Given the description of an element on the screen output the (x, y) to click on. 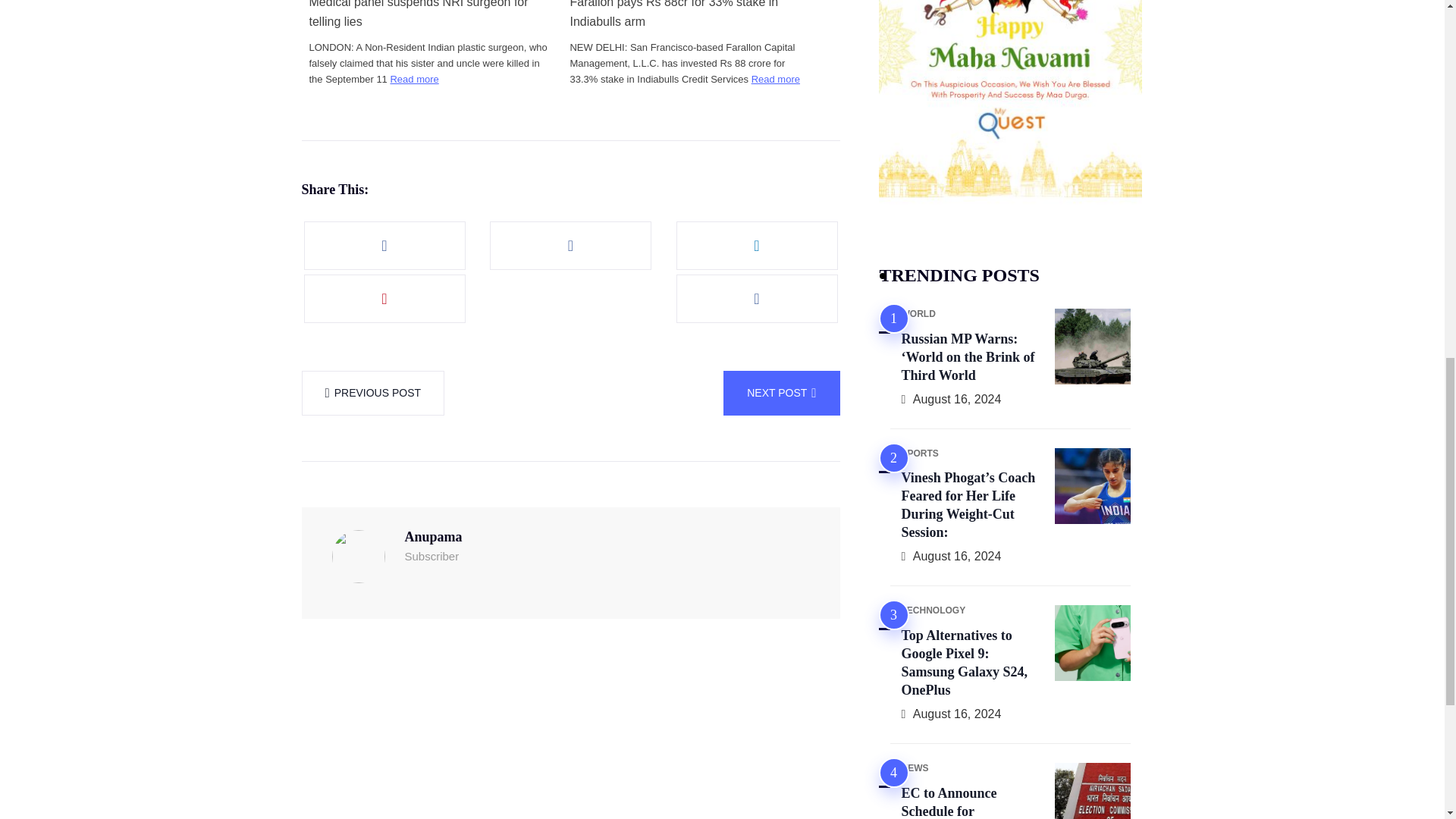
Read more (414, 78)
Read more (775, 78)
Medical panel suspends NRI surgeon for telling lies (429, 15)
Medical panel suspends NRI surgeon for telling lies (429, 15)
